Given the description of an element on the screen output the (x, y) to click on. 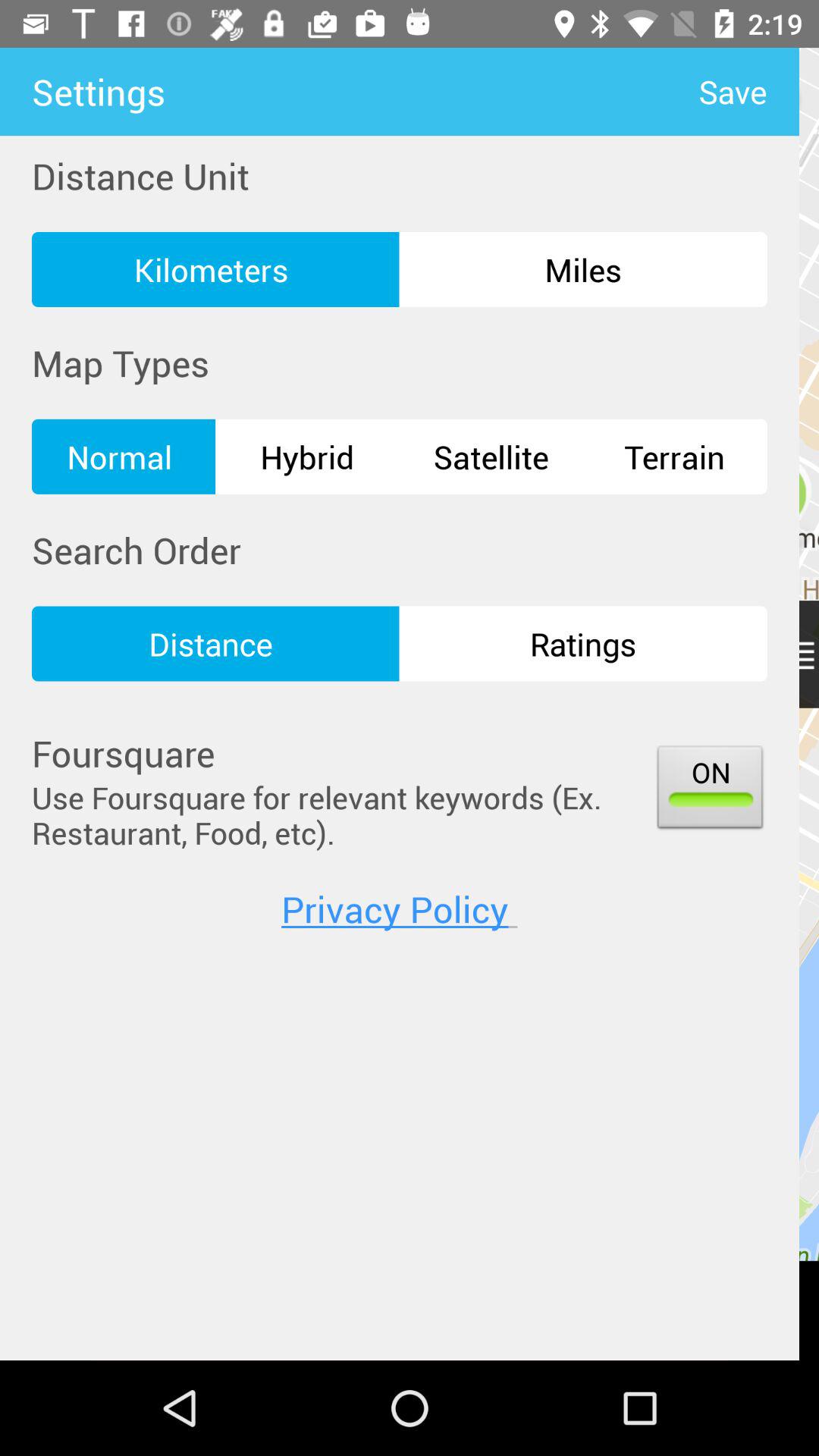
jump to the save (748, 91)
